Given the description of an element on the screen output the (x, y) to click on. 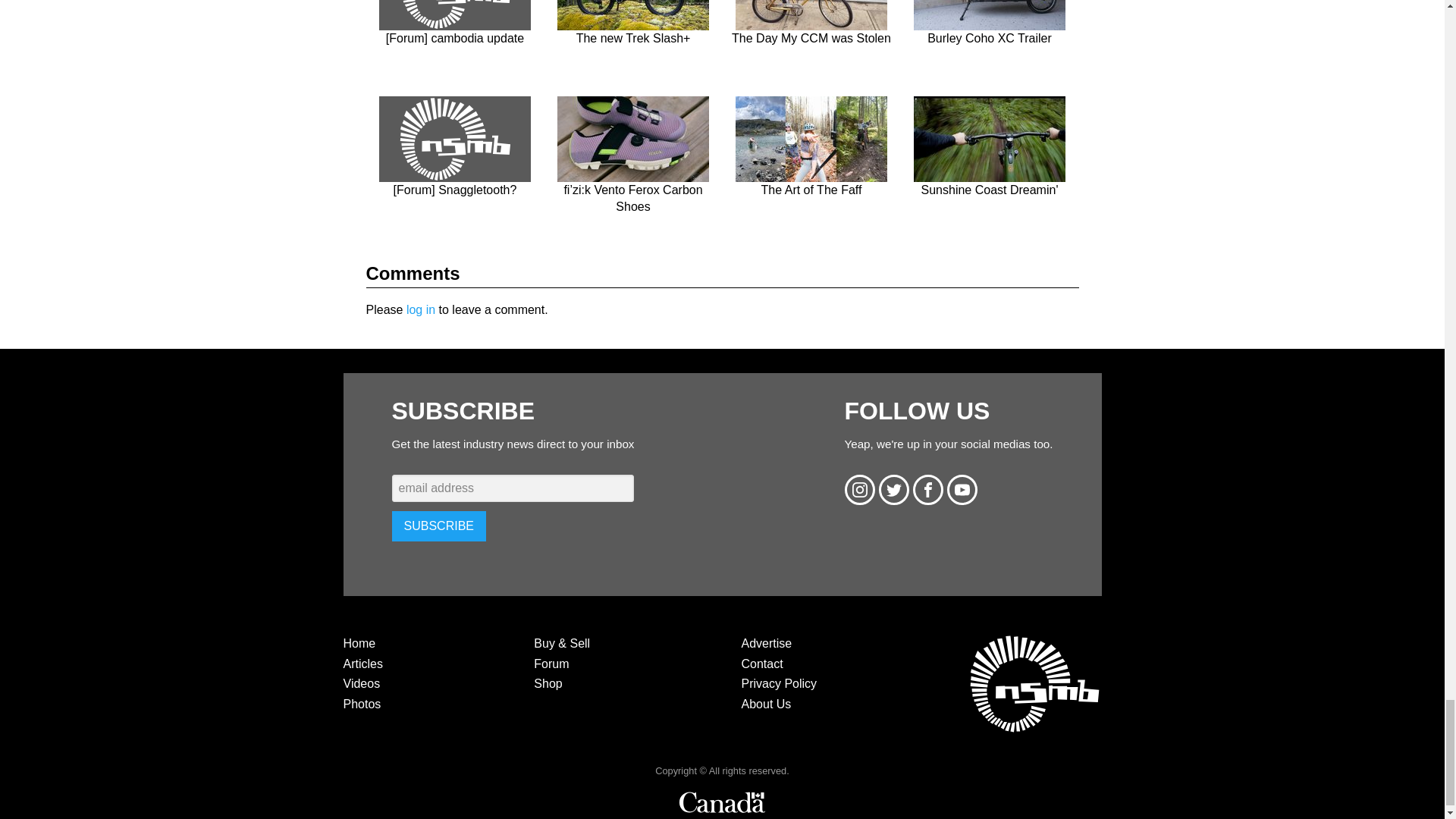
Subscribe (437, 526)
